Given the description of an element on the screen output the (x, y) to click on. 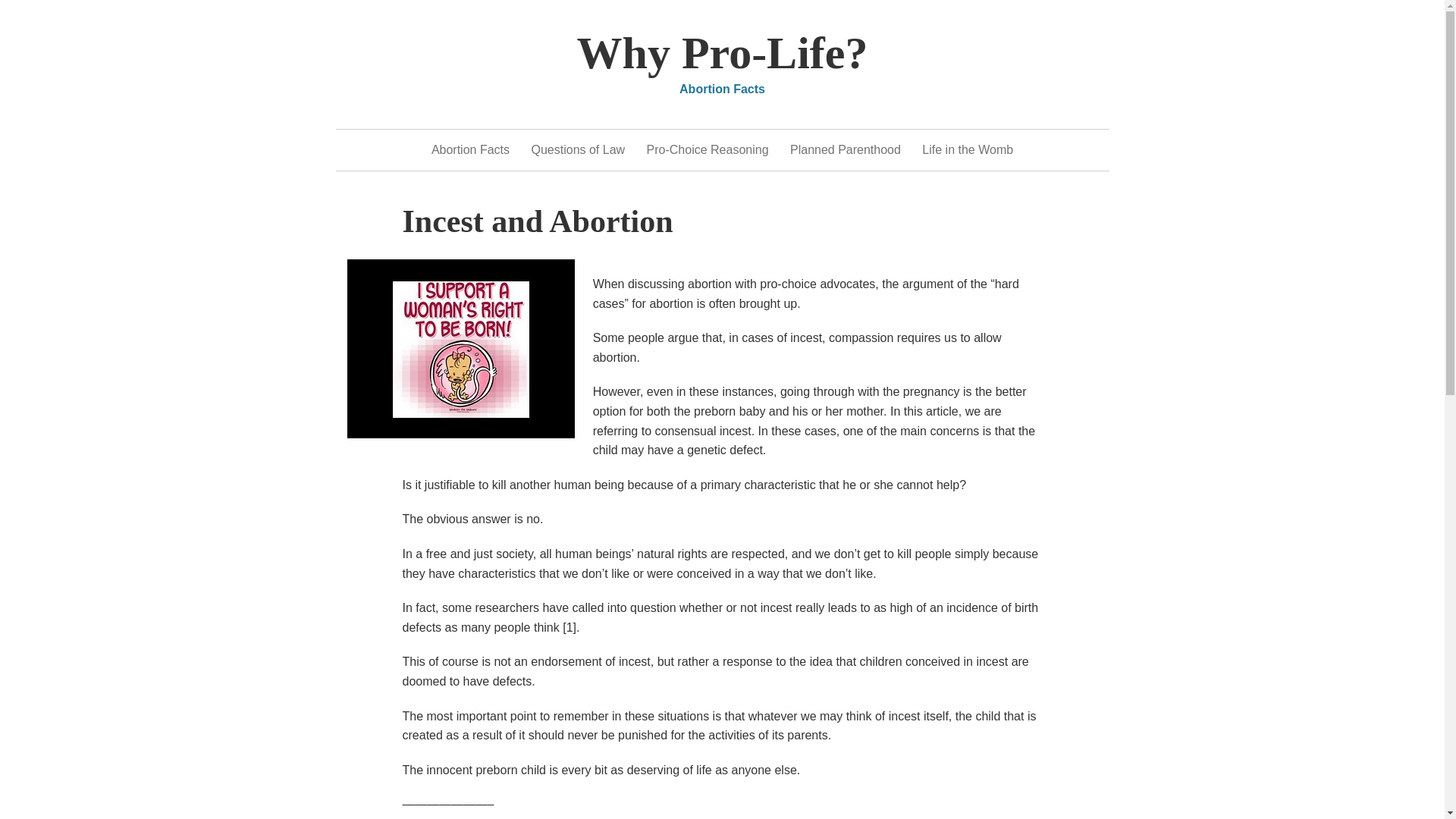
Questions of Law (577, 149)
Life in the Womb (967, 149)
WomanRightToBeBorn (461, 348)
Planned Parenthood (845, 149)
Abortion Facts (469, 149)
Why Pro-Life? (721, 52)
Pro-Choice Reasoning (707, 149)
